Given the description of an element on the screen output the (x, y) to click on. 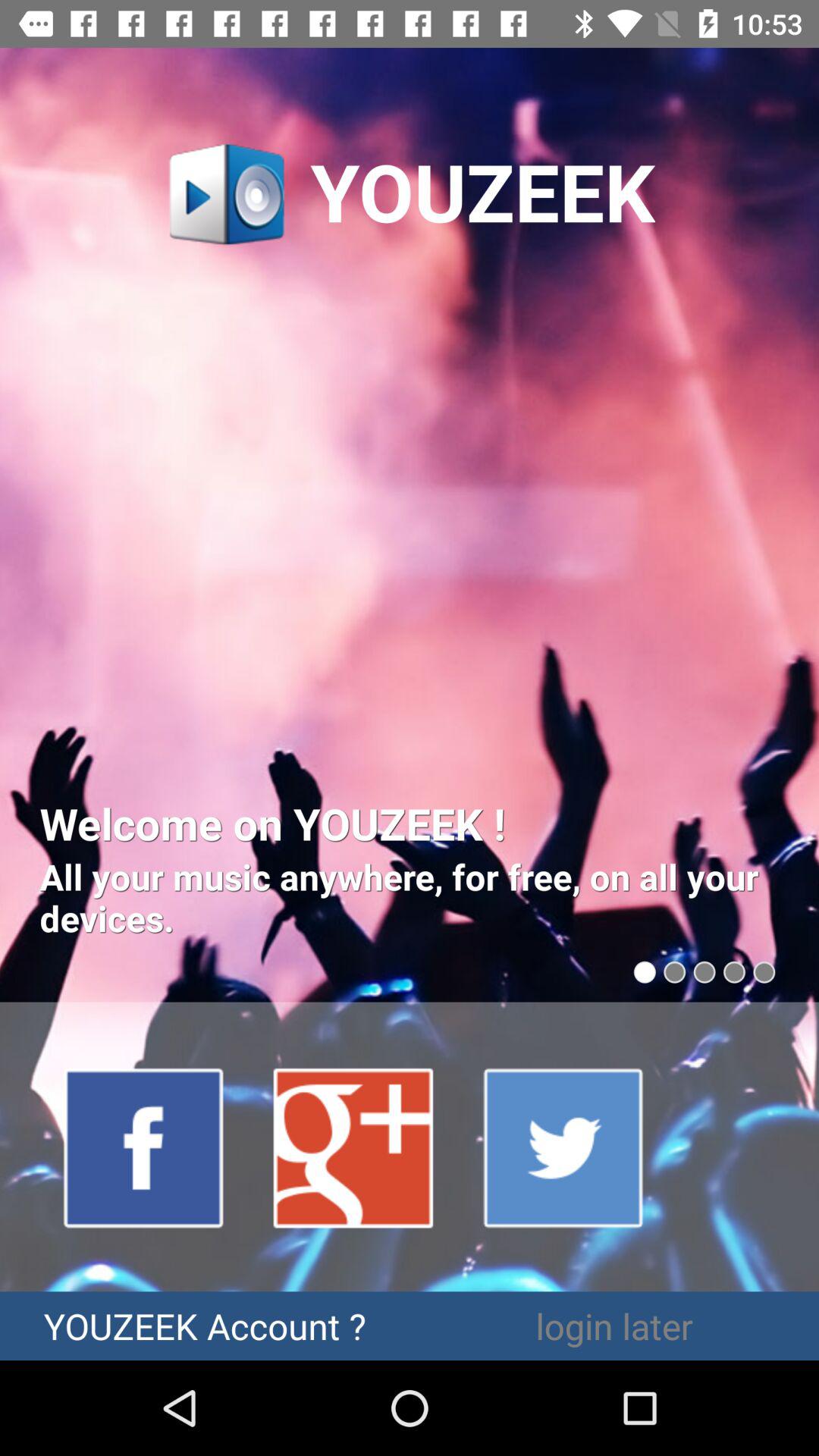
click to use facebook account (144, 1146)
